Given the description of an element on the screen output the (x, y) to click on. 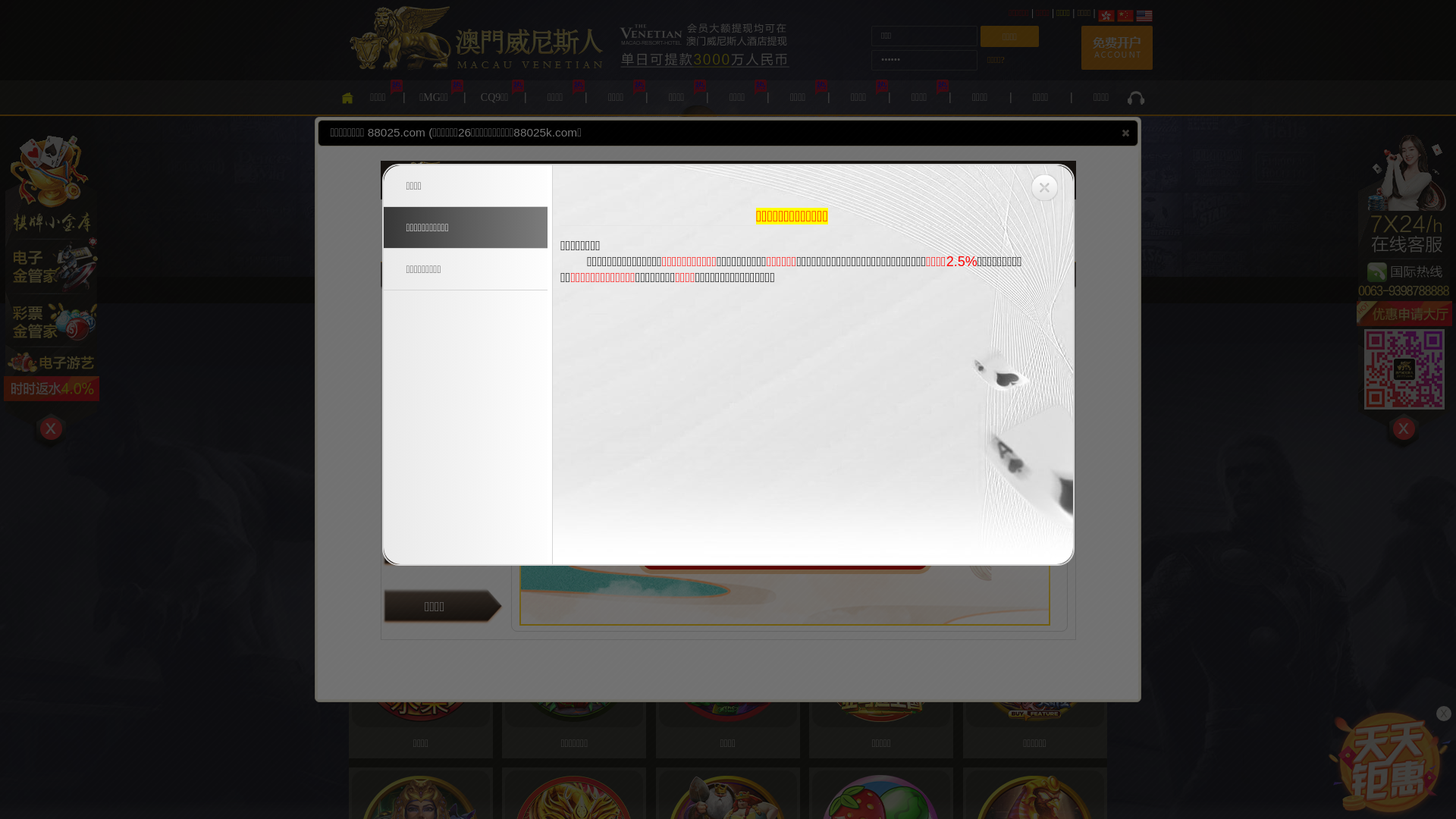
0 Element type: text (1191, 340)
close Element type: text (1125, 132)
0 Element type: text (1268, 340)
0 Element type: text (1345, 340)
X Element type: text (1443, 713)
0 Element type: text (340, 340)
0 Element type: text (1113, 340)
